Given the description of an element on the screen output the (x, y) to click on. 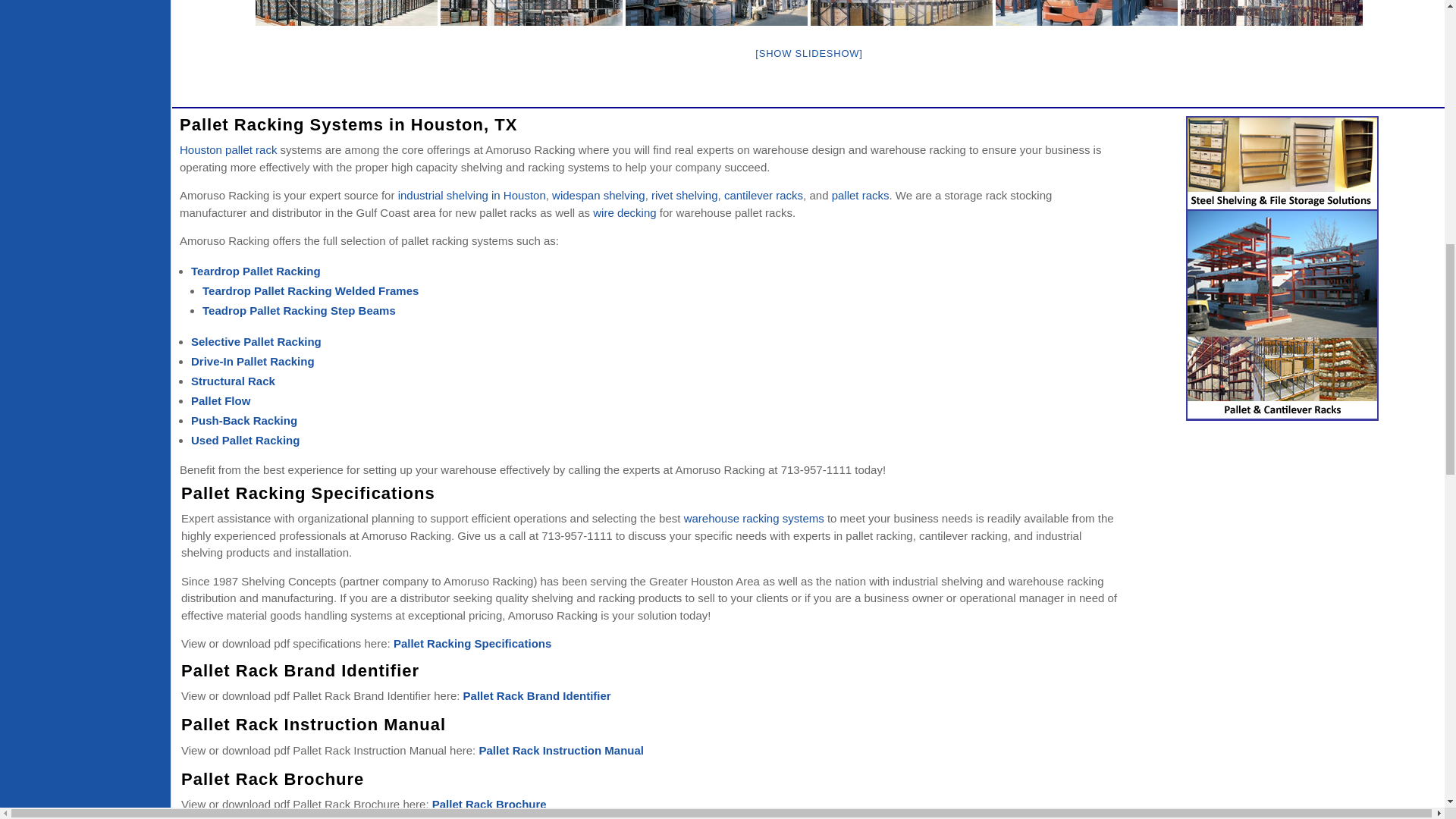
7 (1271, 12)
11 (532, 12)
10 (717, 12)
8 (1086, 12)
9 (901, 12)
12 (347, 12)
